Given the description of an element on the screen output the (x, y) to click on. 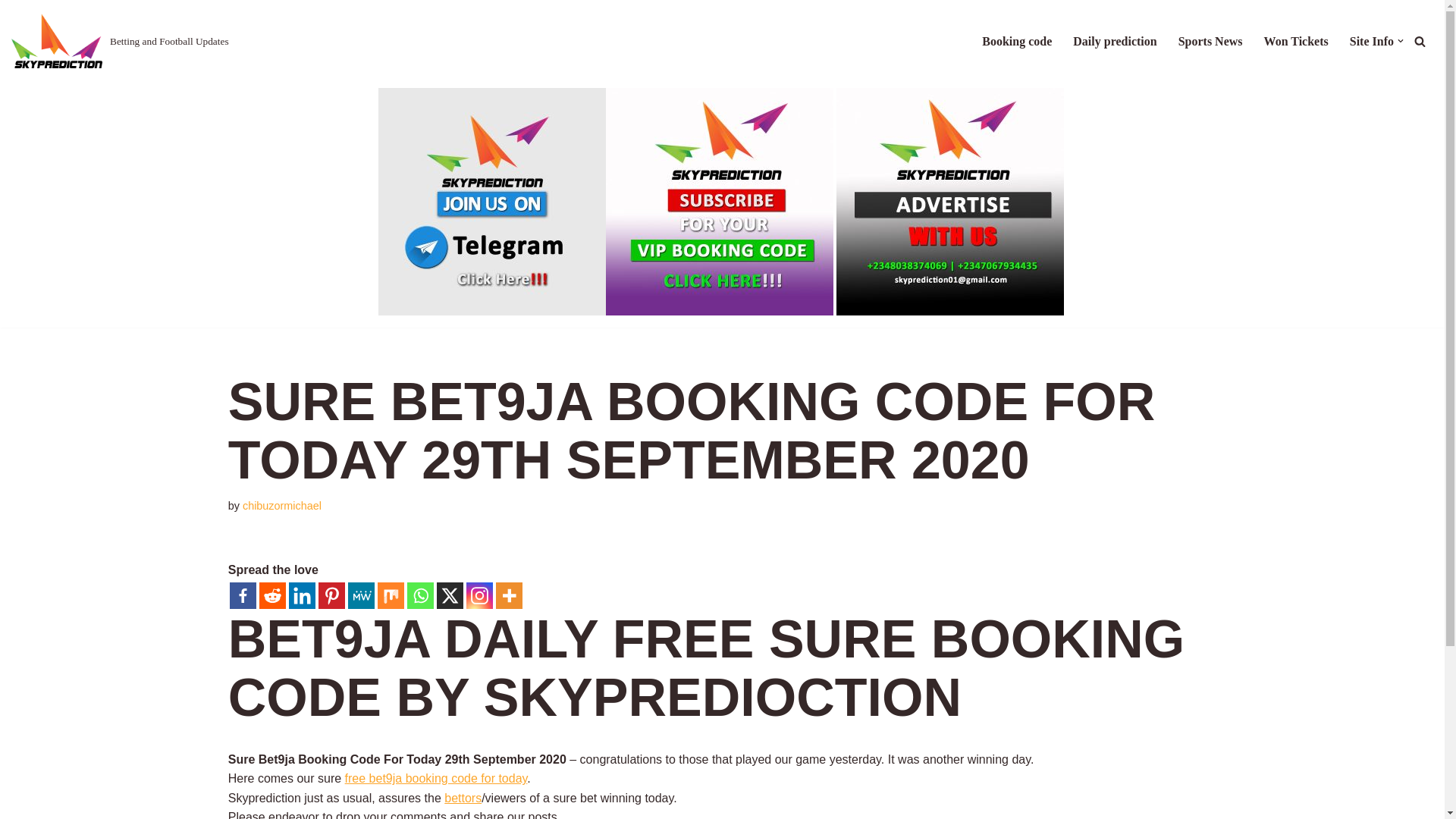
Mix (390, 595)
MeWe (360, 595)
Site Info (1371, 41)
Posts by chibuzormichael (282, 505)
Sports News (1210, 41)
Betting and Football Updates (119, 40)
More (509, 595)
Pinterest (331, 595)
Linkedin (301, 595)
chibuzormichael (282, 505)
